Given the description of an element on the screen output the (x, y) to click on. 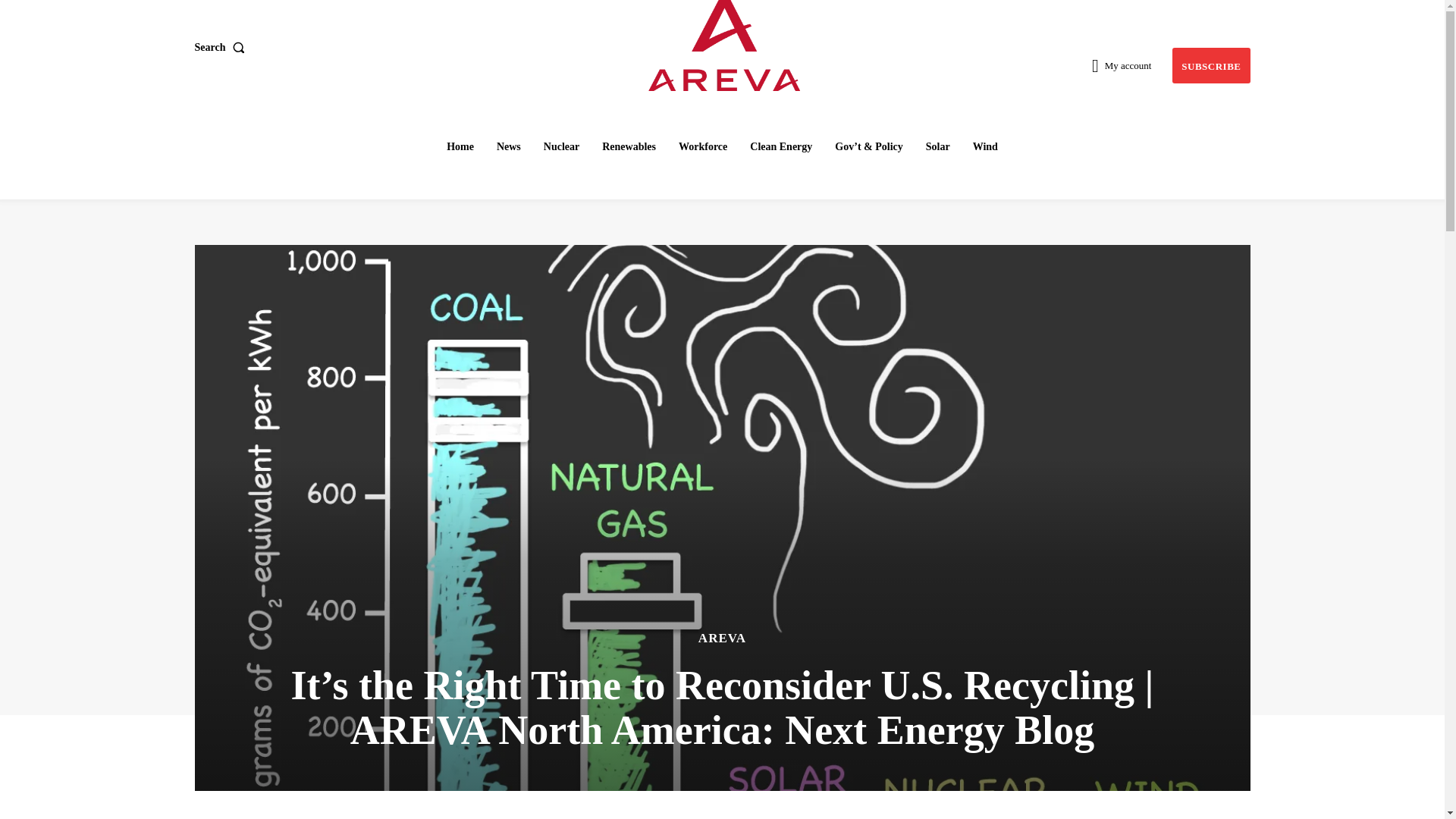
Solar (938, 146)
Workforce (703, 146)
News (508, 146)
Nuclear (560, 146)
SUBSCRIBE (1210, 65)
Clean Energy (780, 146)
Search (221, 47)
Wind (985, 146)
Renewables (628, 146)
Home (460, 146)
